Given the description of an element on the screen output the (x, y) to click on. 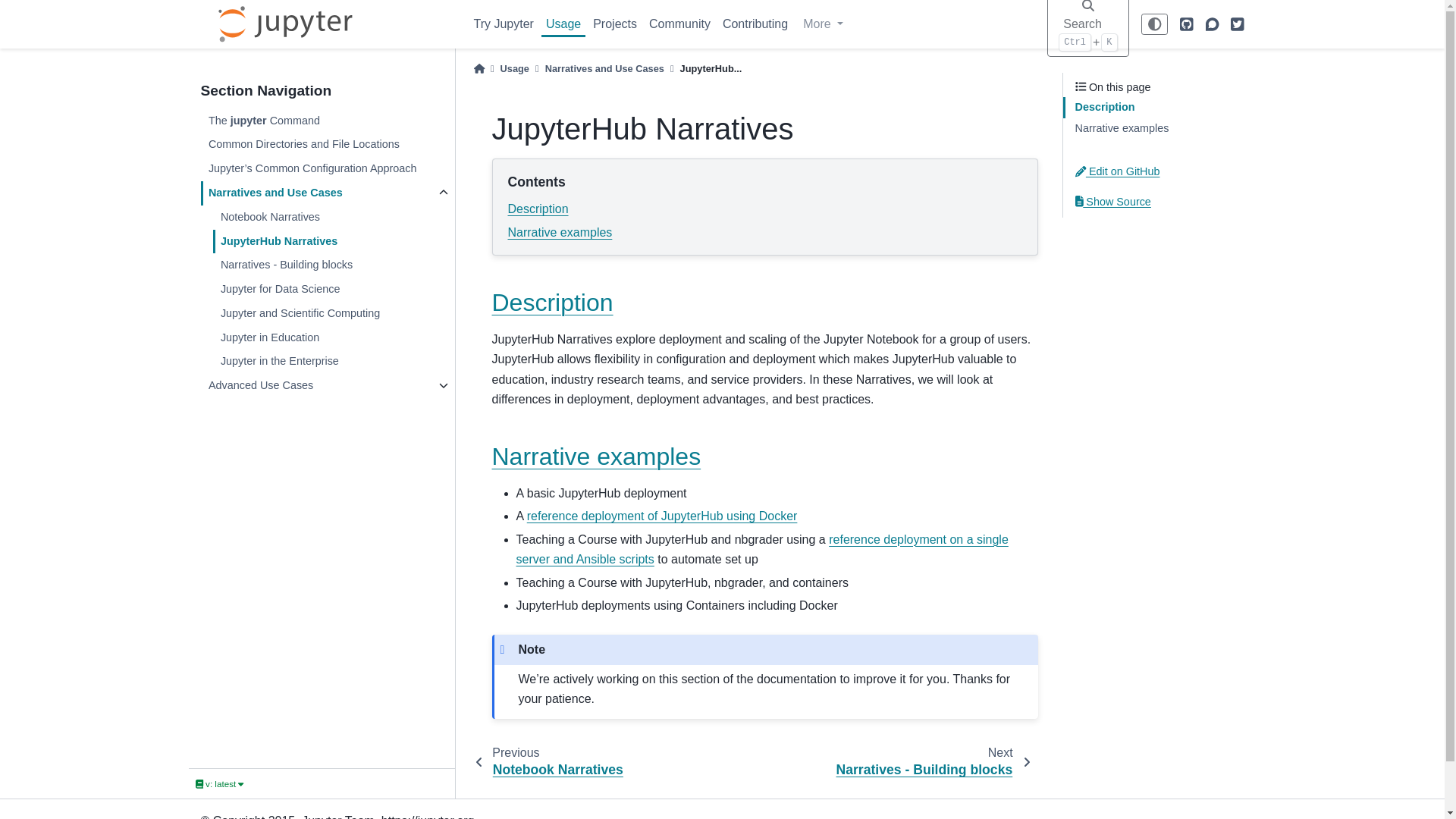
Notebook Narratives (331, 217)
Projects (615, 23)
Jupyter and Scientific Computing (331, 313)
Discourse (1212, 24)
next page (927, 761)
The jupyter Command (325, 120)
JupyterHub Narratives (331, 241)
More (822, 23)
Narratives and Use Cases (314, 192)
Community (679, 23)
Jupyter for Data Science (331, 289)
previous page (553, 761)
GitHub (1186, 24)
Jupyter in Education (331, 337)
Usage (563, 23)
